Given the description of an element on the screen output the (x, y) to click on. 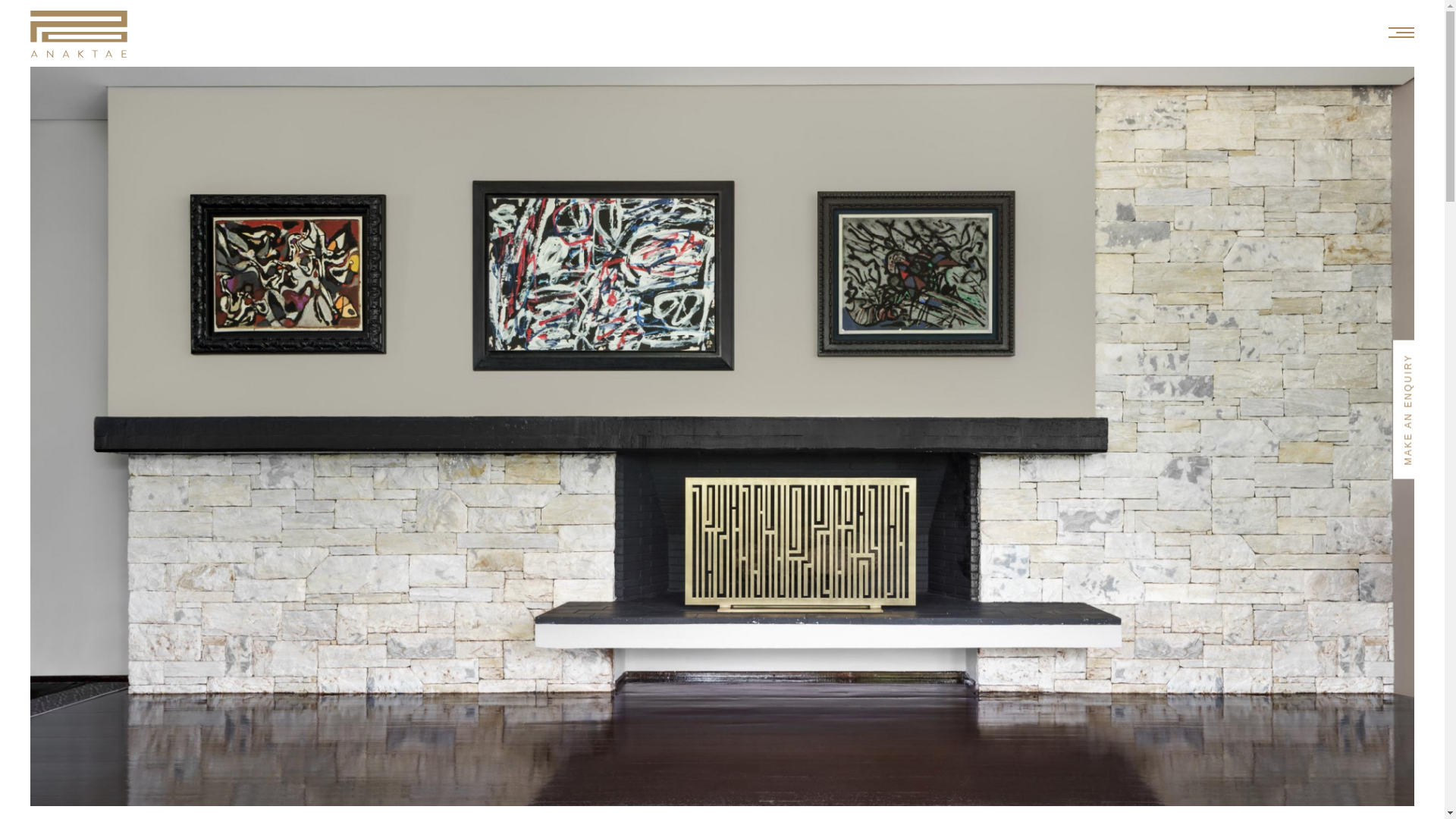
Anaktae (78, 41)
